Given the description of an element on the screen output the (x, y) to click on. 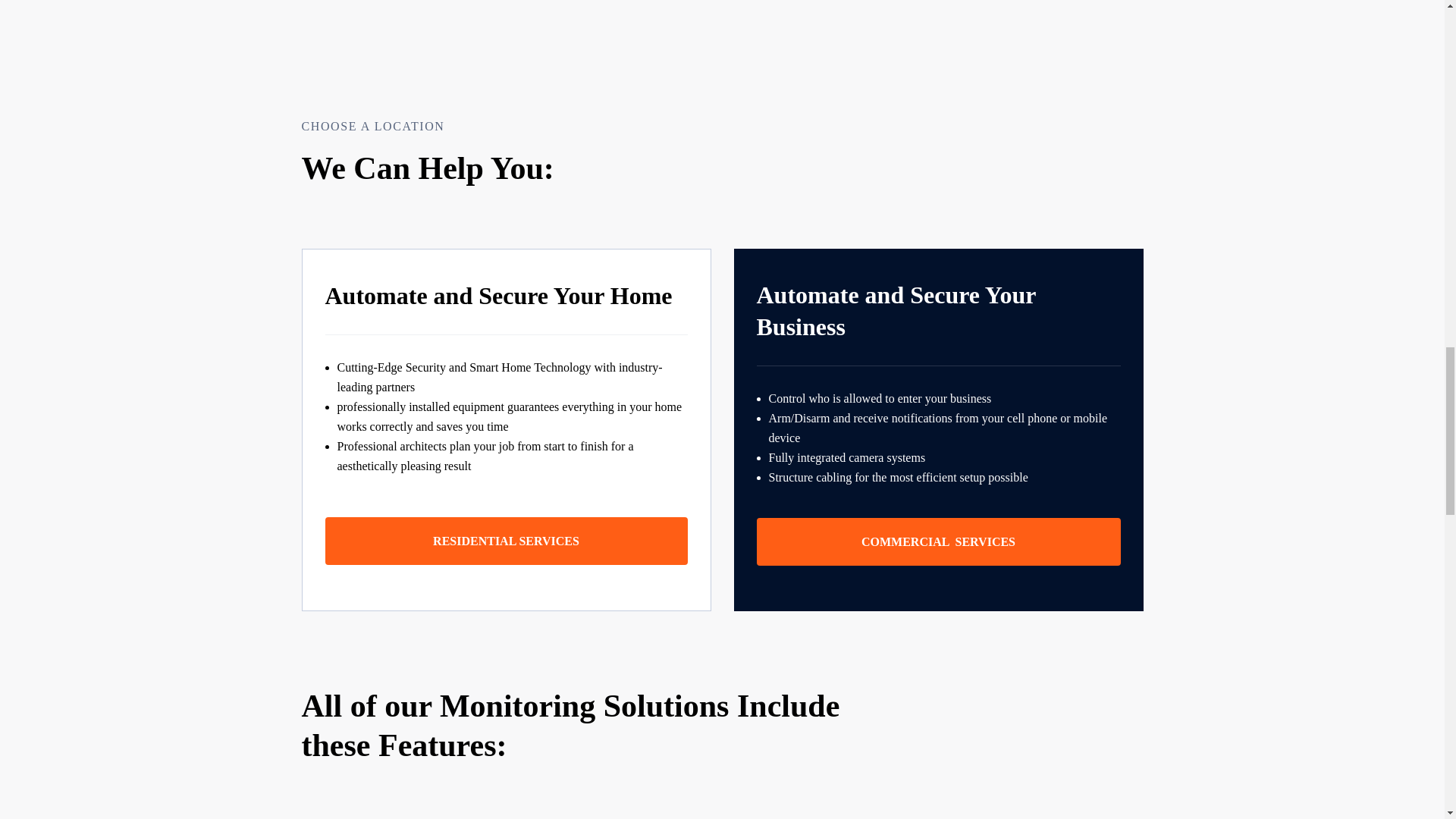
COMMERCIAL  SERVICES (939, 541)
RESIDENTIAL SERVICES (505, 540)
